Given the description of an element on the screen output the (x, y) to click on. 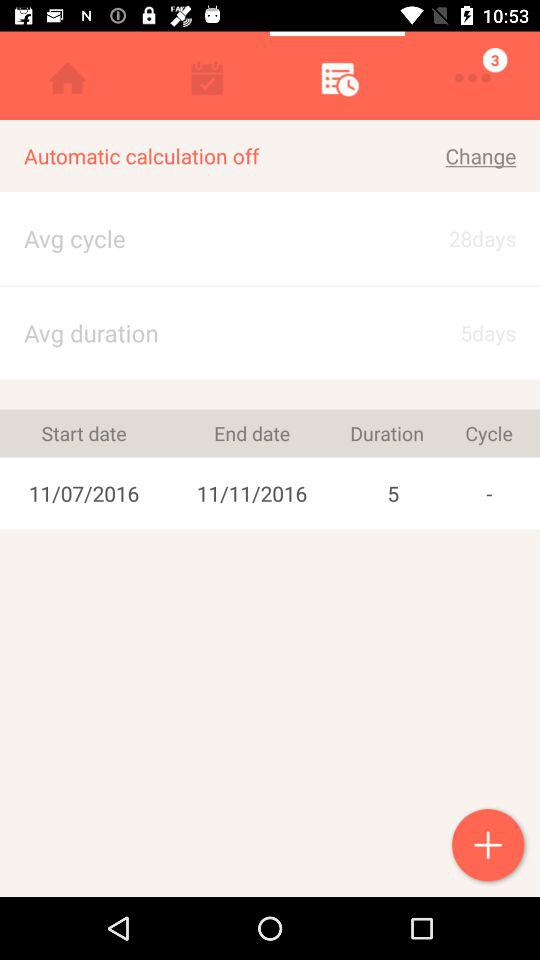
turn on the item next to the 5 icon (252, 433)
